Given the description of an element on the screen output the (x, y) to click on. 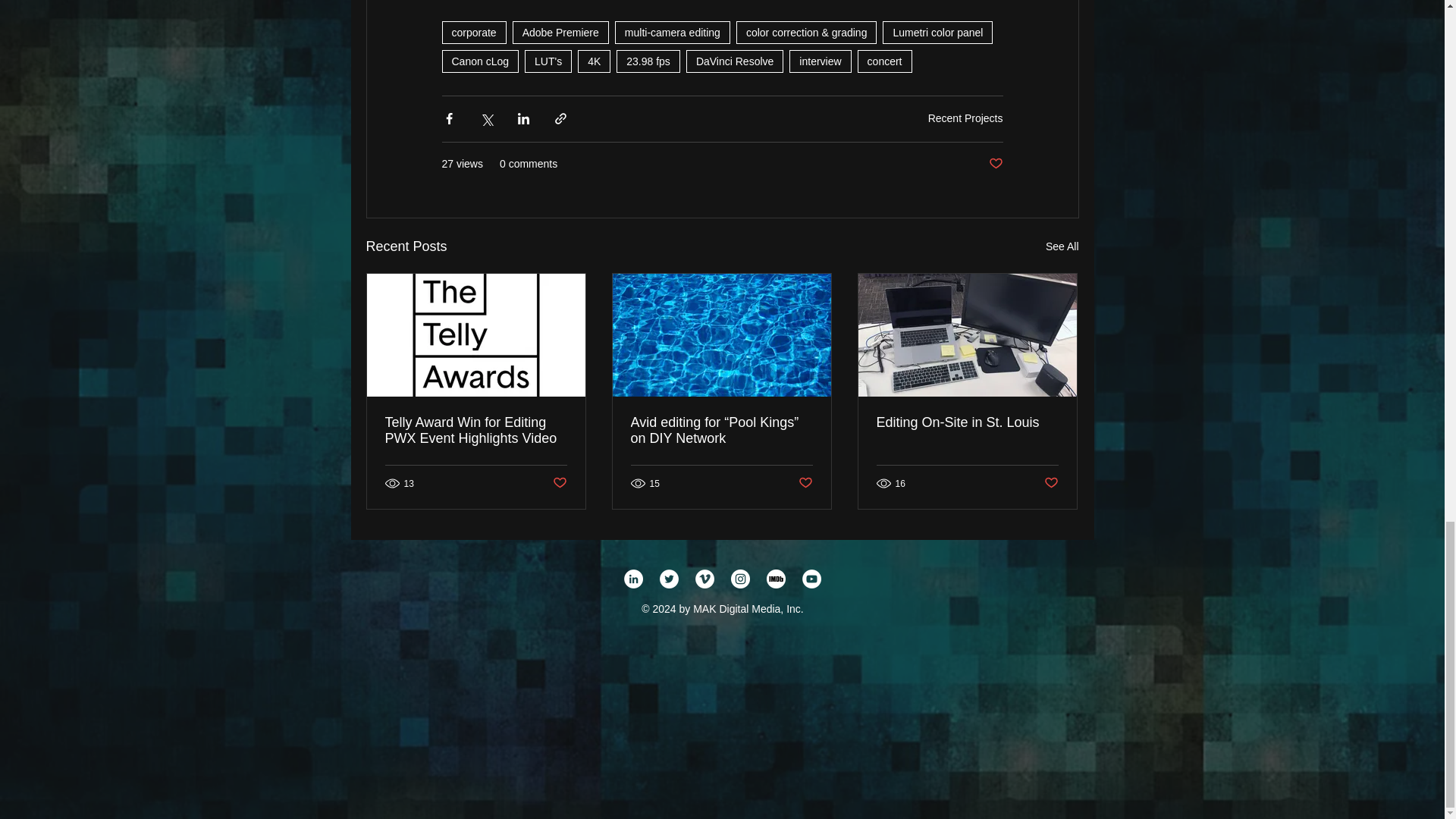
multi-camera editing (672, 32)
DaVinci Resolve (734, 60)
Adobe Premiere (560, 32)
LUT's (548, 60)
Lumetri color panel (937, 32)
concert (884, 60)
4K (594, 60)
corporate (473, 32)
Canon cLog (479, 60)
Post not marked as liked (995, 163)
